Given the description of an element on the screen output the (x, y) to click on. 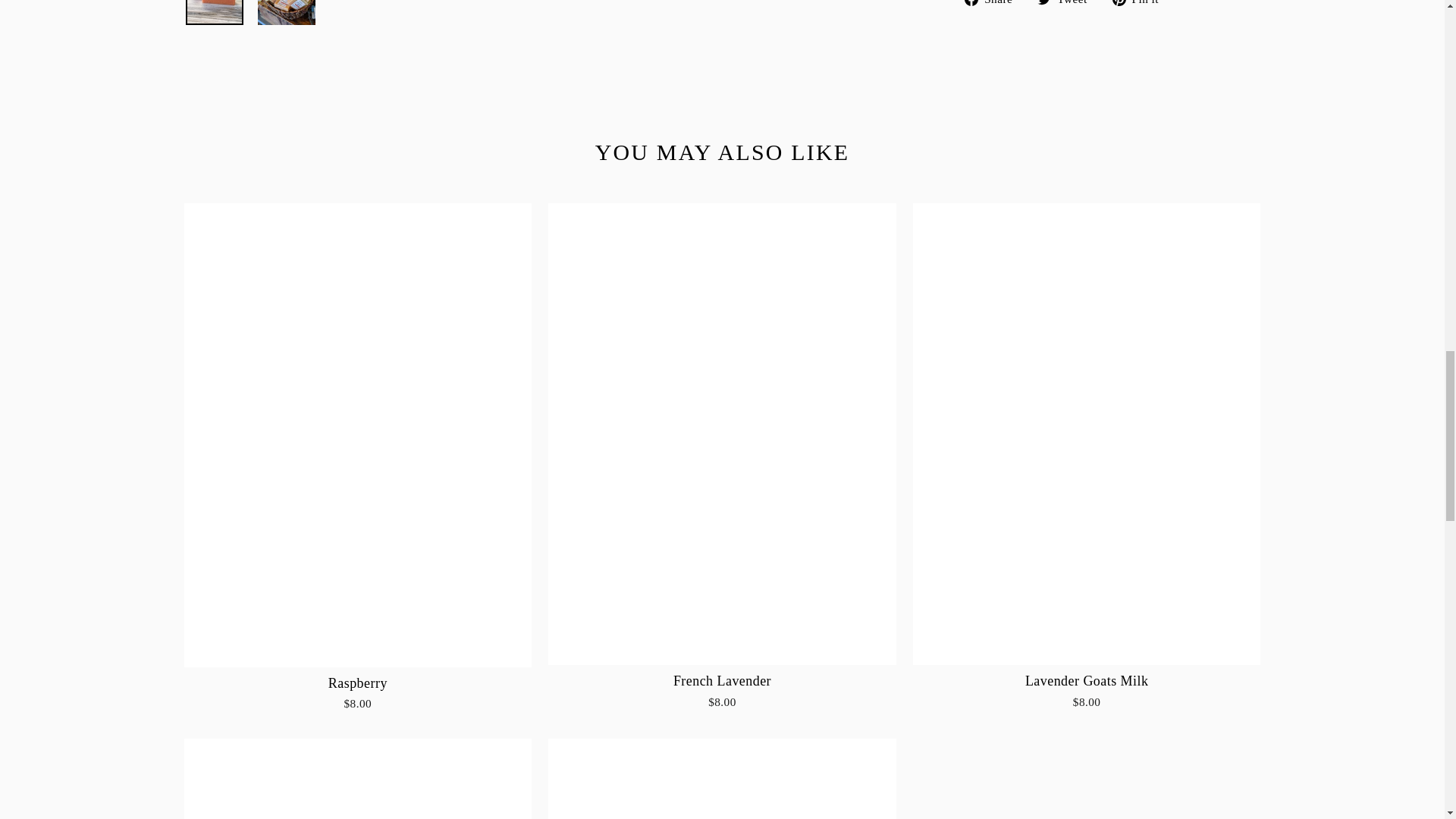
Tweet on Twitter (1066, 3)
Pin on Pinterest (1141, 3)
twitter (1043, 2)
Share on Facebook (993, 3)
